Given the description of an element on the screen output the (x, y) to click on. 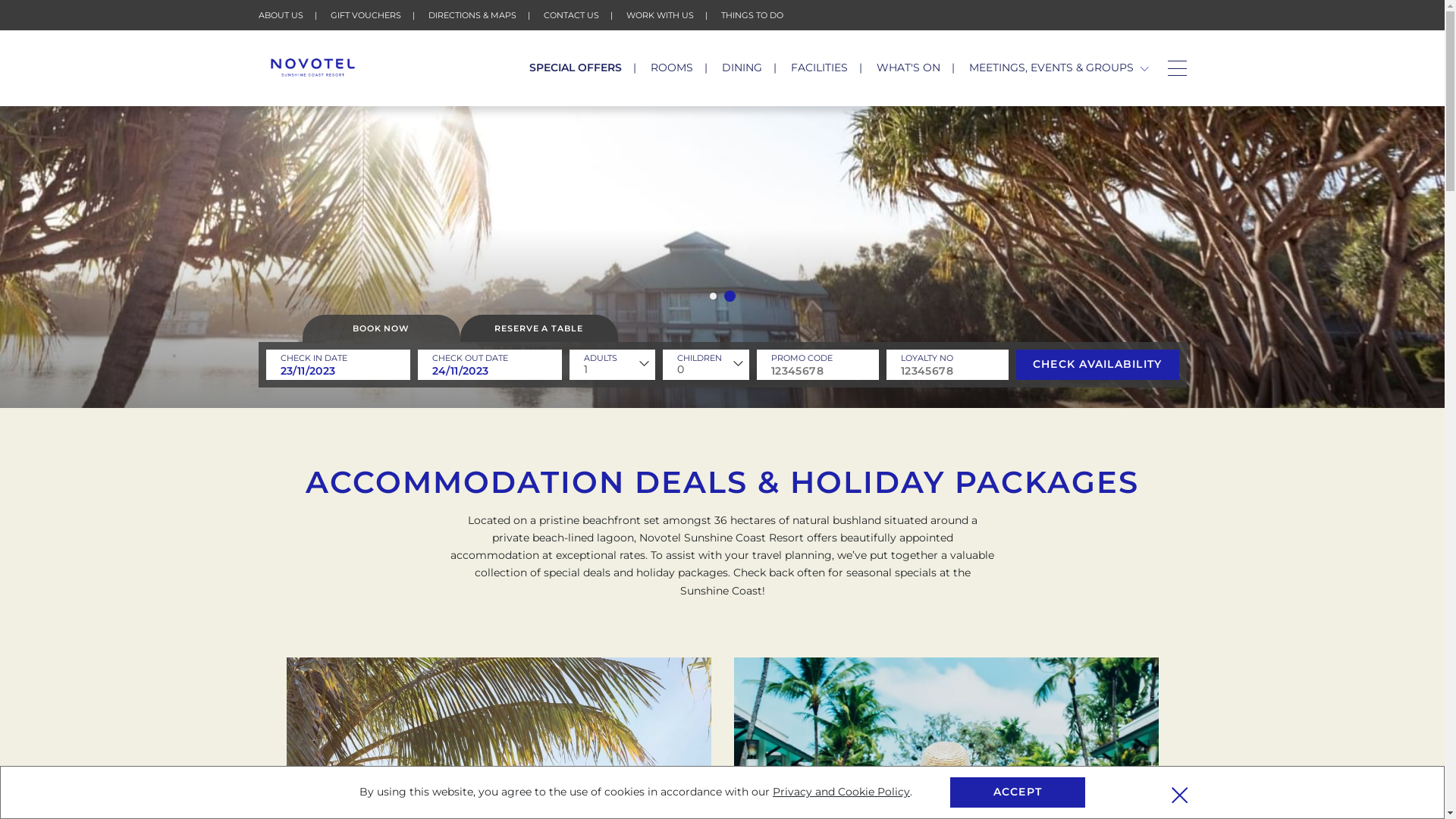
THINGS TO DO Element type: text (751, 14)
DIRECTIONS & MAPS Element type: text (471, 14)
RESERVE A TABLE Element type: text (538, 328)
WORK WITH US Element type: text (659, 14)
MEETINGS, EVENTS & GROUPS Element type: text (1058, 67)
ABOUT US Element type: text (279, 14)
DINING Element type: text (741, 67)
Privacy and Cookie Policy
Opens in a new tab. Element type: text (841, 791)
BOOK NOW Element type: text (380, 328)
FACILITIES Element type: text (818, 67)
ROOMS Element type: text (671, 67)
CONTACT US Element type: text (570, 14)
WHAT'S ON Element type: text (908, 67)
ACCEPT Element type: text (1017, 792)
CHECK AVAILABILITY Element type: text (1097, 364)
GIFT VOUCHERS
OPENS IN A NEW TAB. Element type: text (365, 14)
SPECIAL OFFERS Element type: text (575, 67)
